Given the description of an element on the screen output the (x, y) to click on. 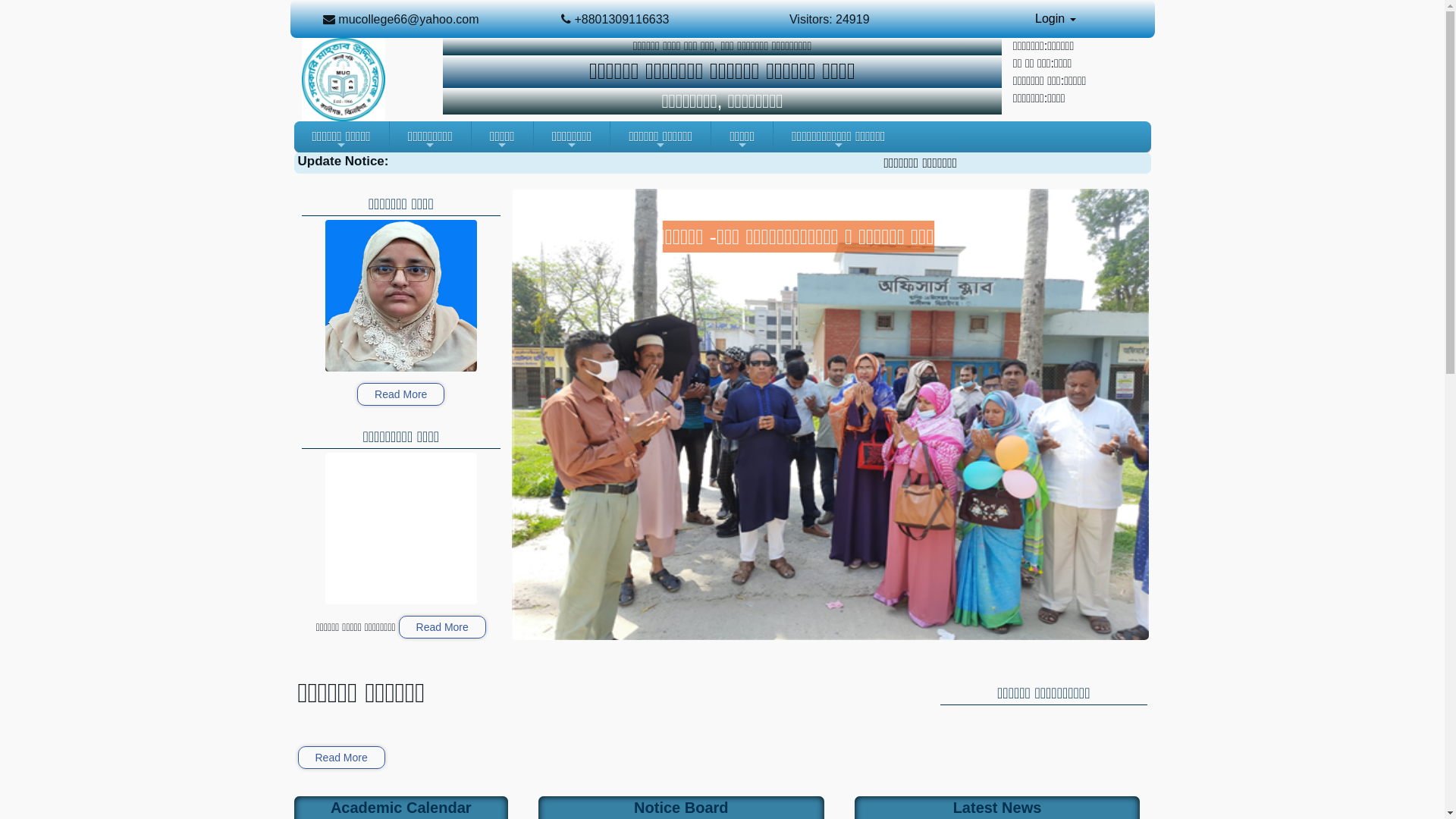
Read More Element type: text (442, 627)
Read More Element type: text (340, 757)
Login Element type: text (1055, 18)
Read More Element type: text (400, 394)
